Given the description of an element on the screen output the (x, y) to click on. 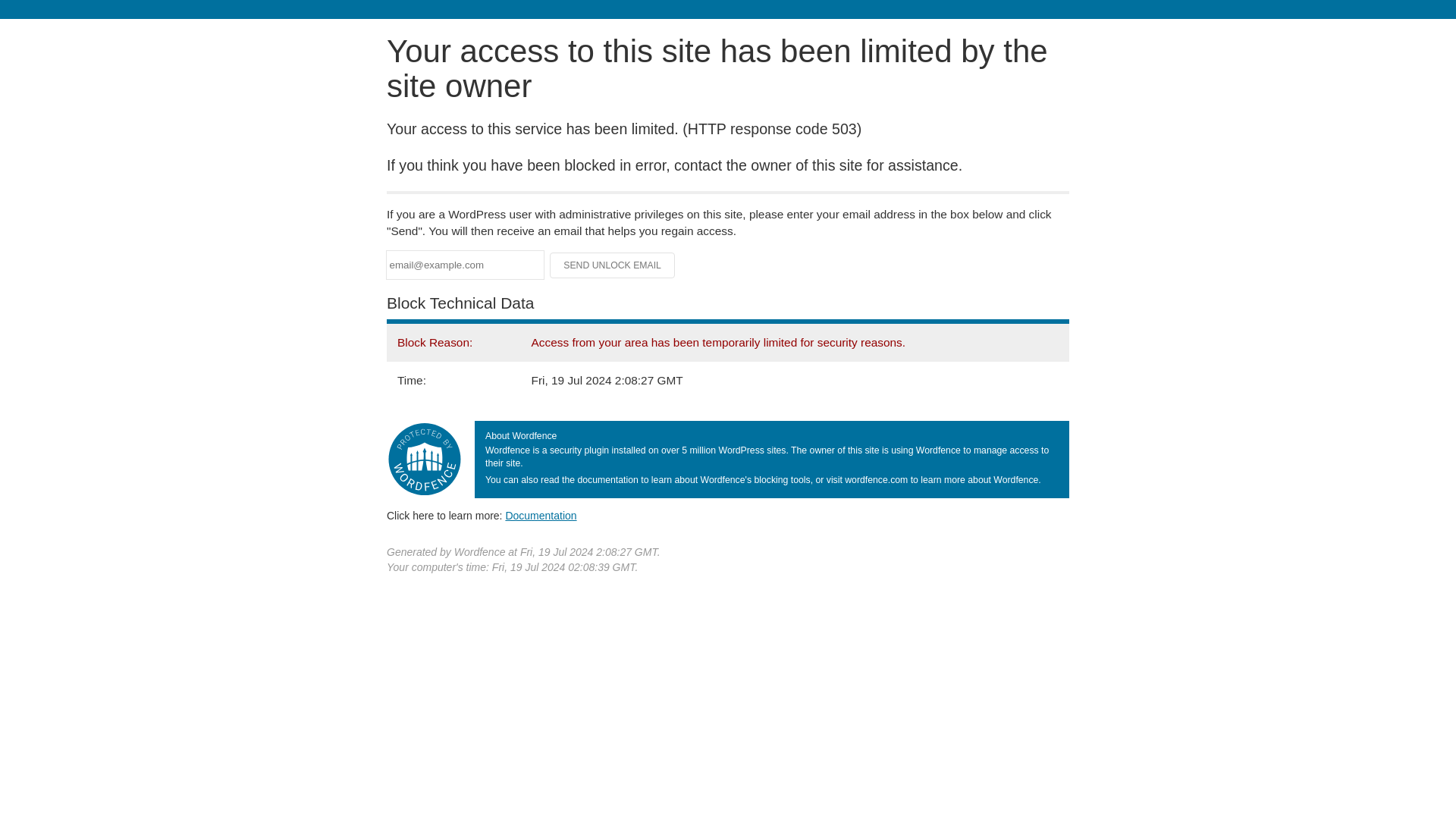
Send Unlock Email (612, 265)
Send Unlock Email (612, 265)
Documentation (540, 515)
